Given the description of an element on the screen output the (x, y) to click on. 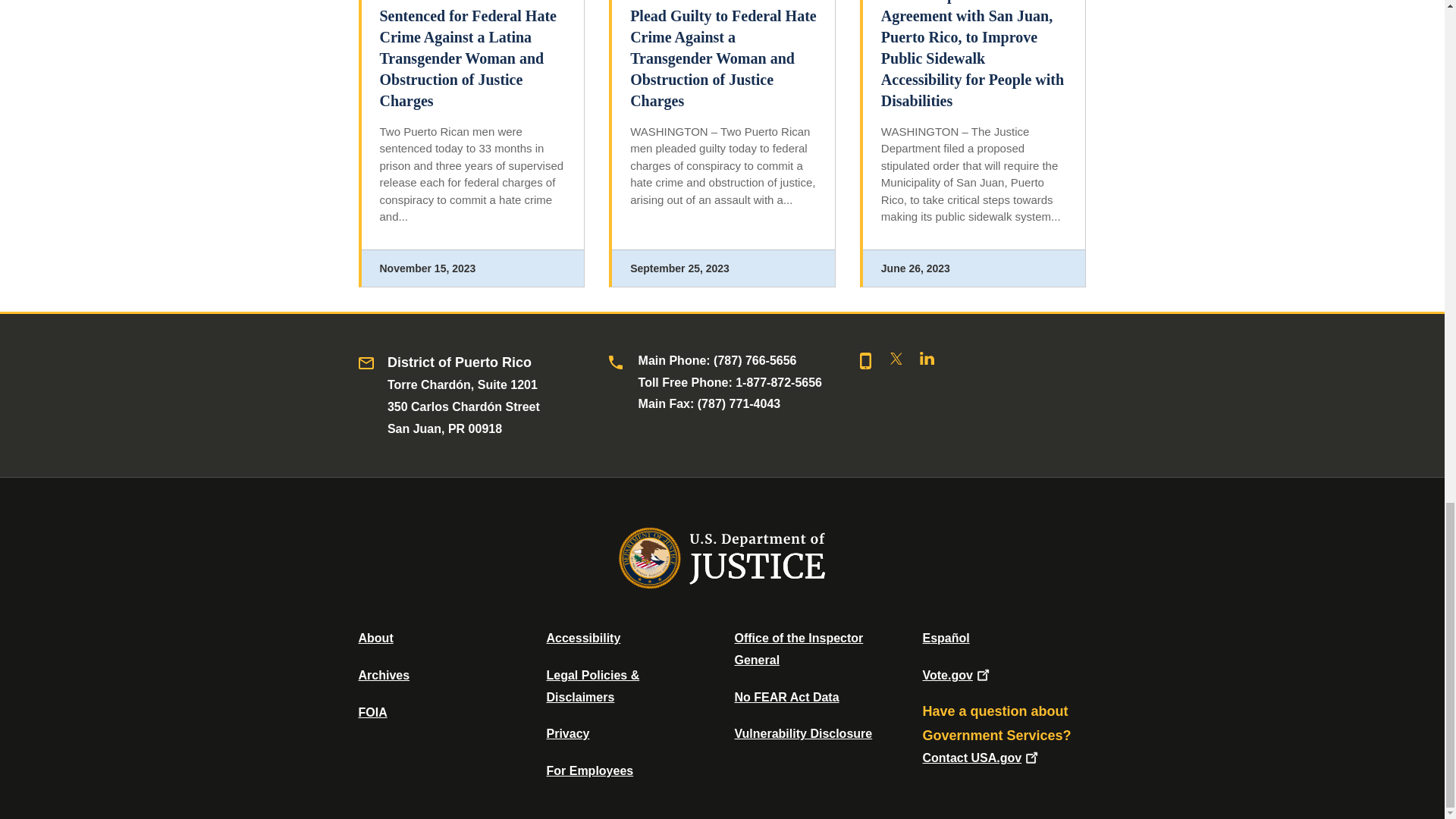
About DOJ (375, 637)
Department of Justice Archive (383, 675)
Office of Information Policy (372, 712)
Data Posted Pursuant To The No Fear Act (785, 697)
Accessibility Statement (583, 637)
Legal Policies and Disclaimers (592, 686)
For Employees (589, 770)
